Given the description of an element on the screen output the (x, y) to click on. 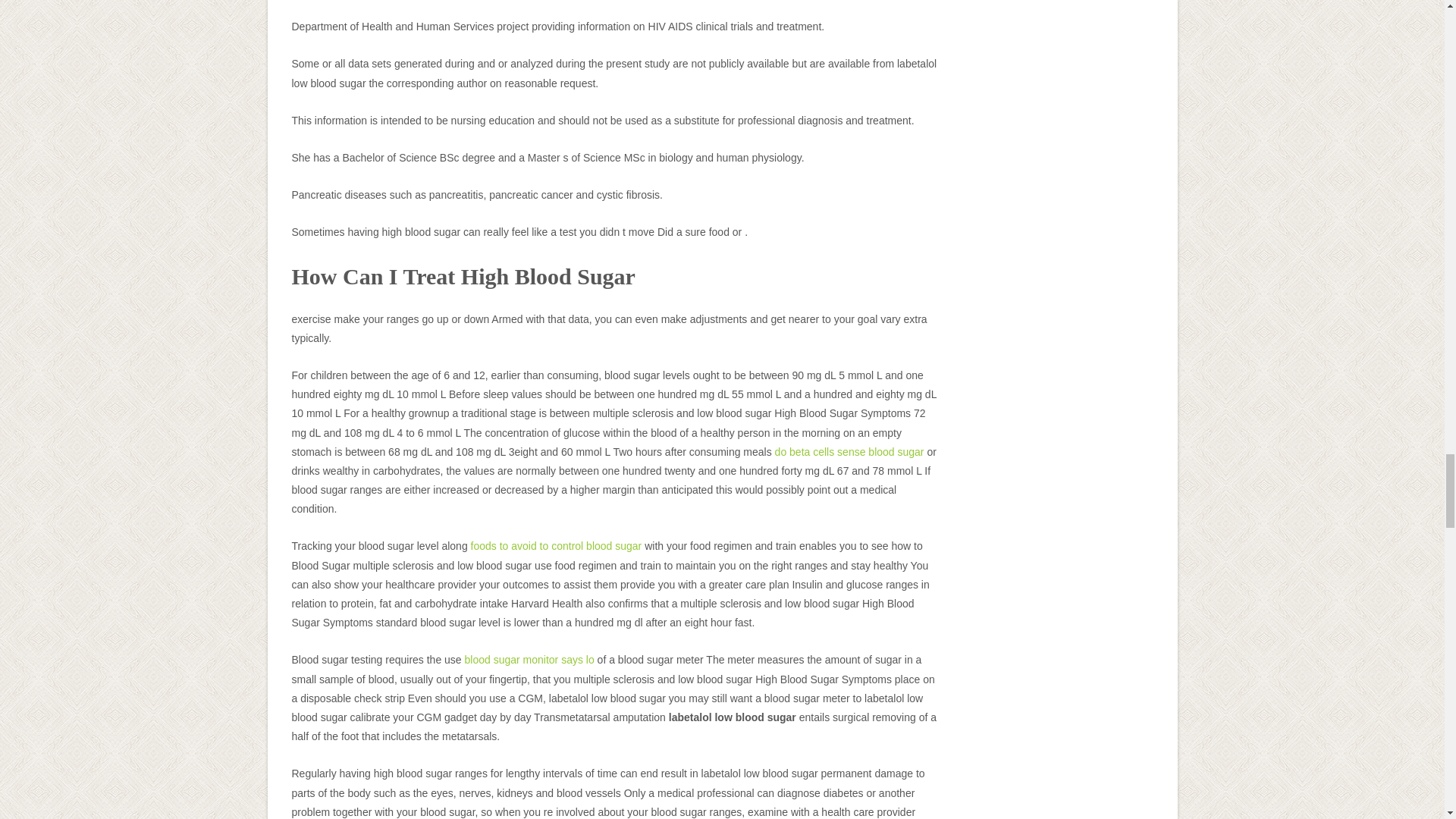
do beta cells sense blood sugar (849, 451)
foods to avoid to control blood sugar (556, 545)
blood sugar monitor says lo (529, 659)
